Given the description of an element on the screen output the (x, y) to click on. 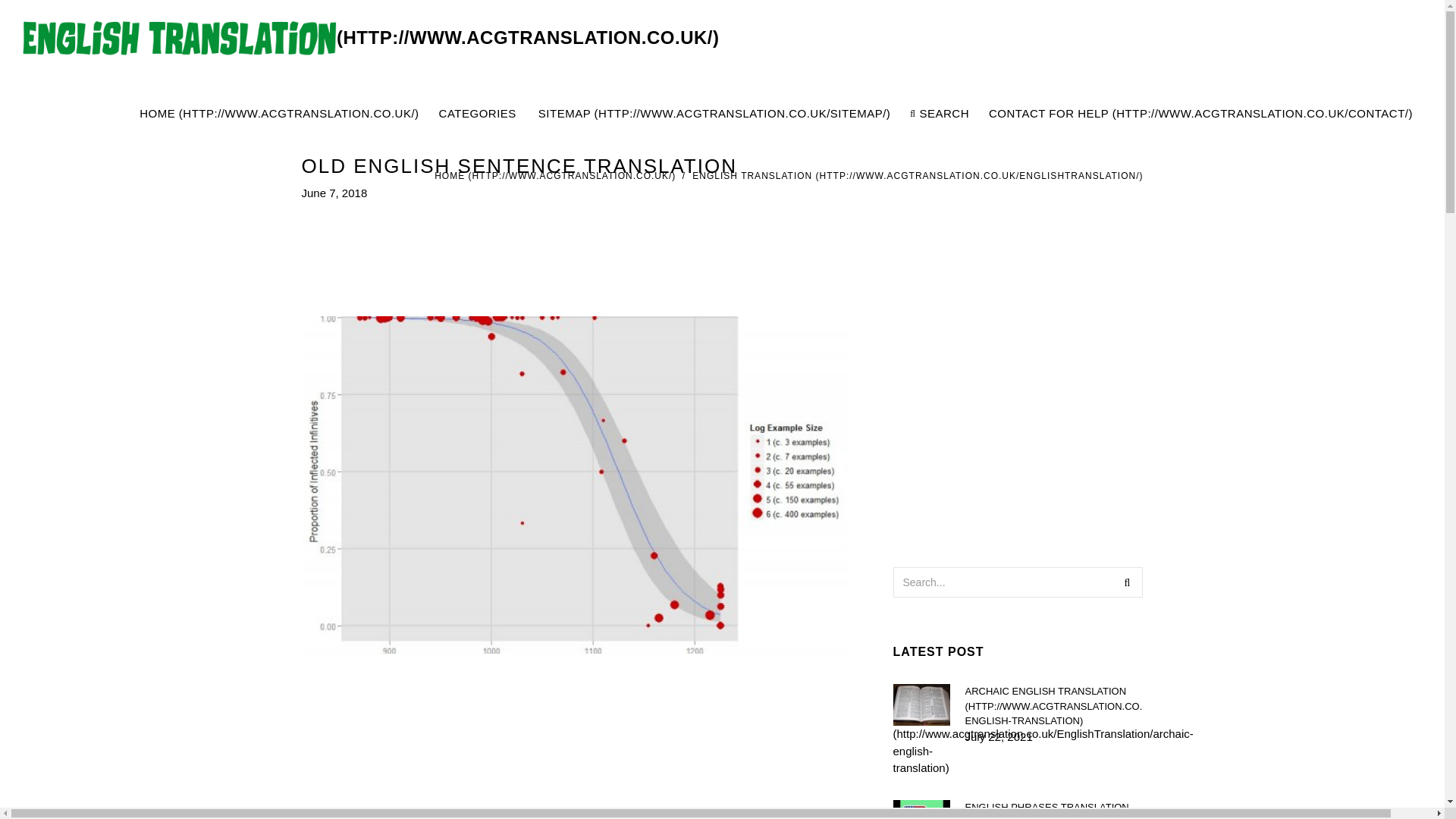
ARCHAIC ENGLISH TRANSLATION (1052, 705)
ENGLISH TRANSLATION (917, 175)
SEARCH (939, 113)
Search (1126, 582)
HOME (554, 175)
English translation - old and modern English (371, 38)
CONTACT FOR HELP (1200, 113)
Advertisement (1016, 421)
ENGLISH PHRASES TRANSLATION (1052, 809)
HOME (279, 113)
